Given the description of an element on the screen output the (x, y) to click on. 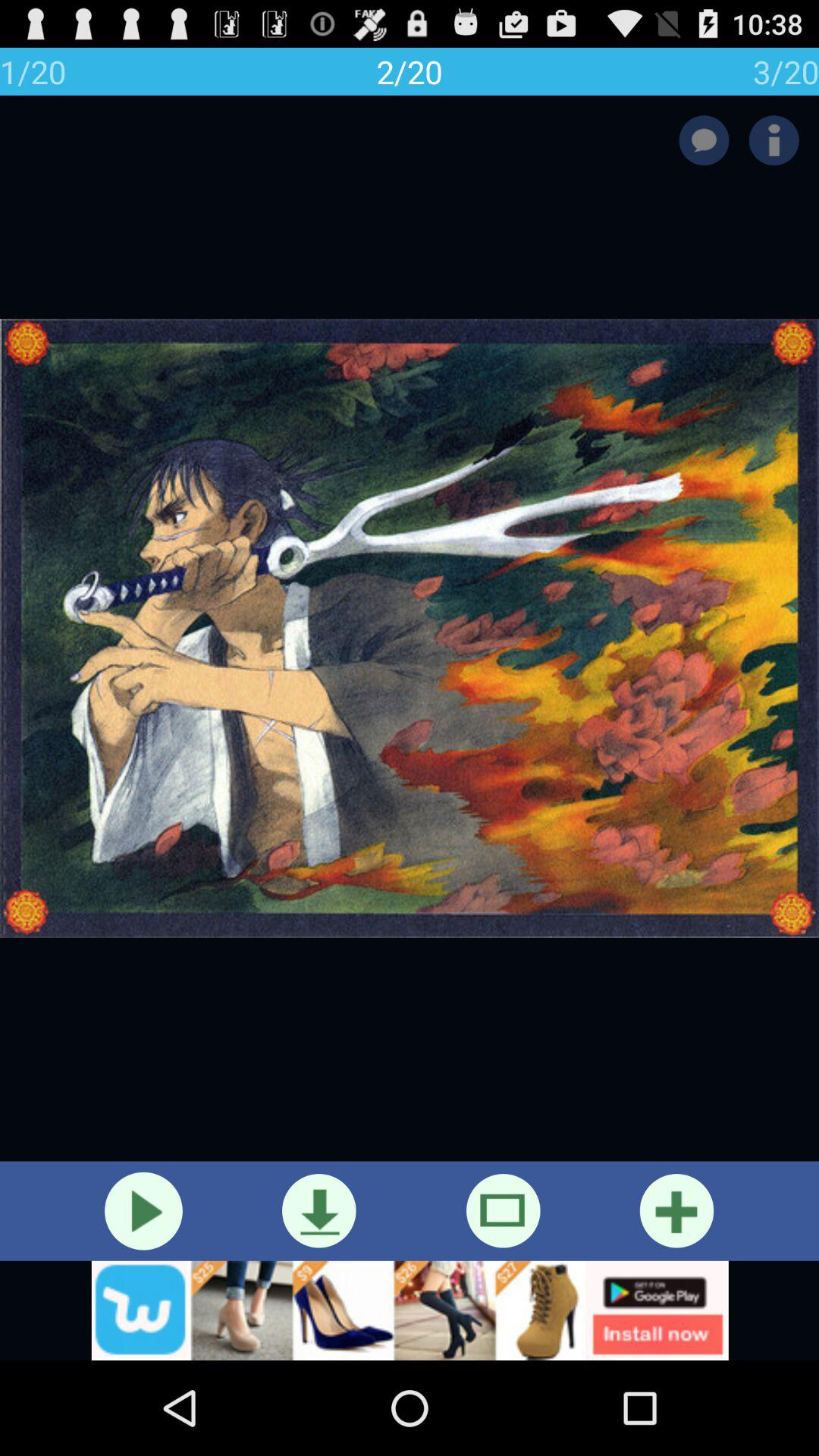
googleplay icon (409, 1310)
